Given the description of an element on the screen output the (x, y) to click on. 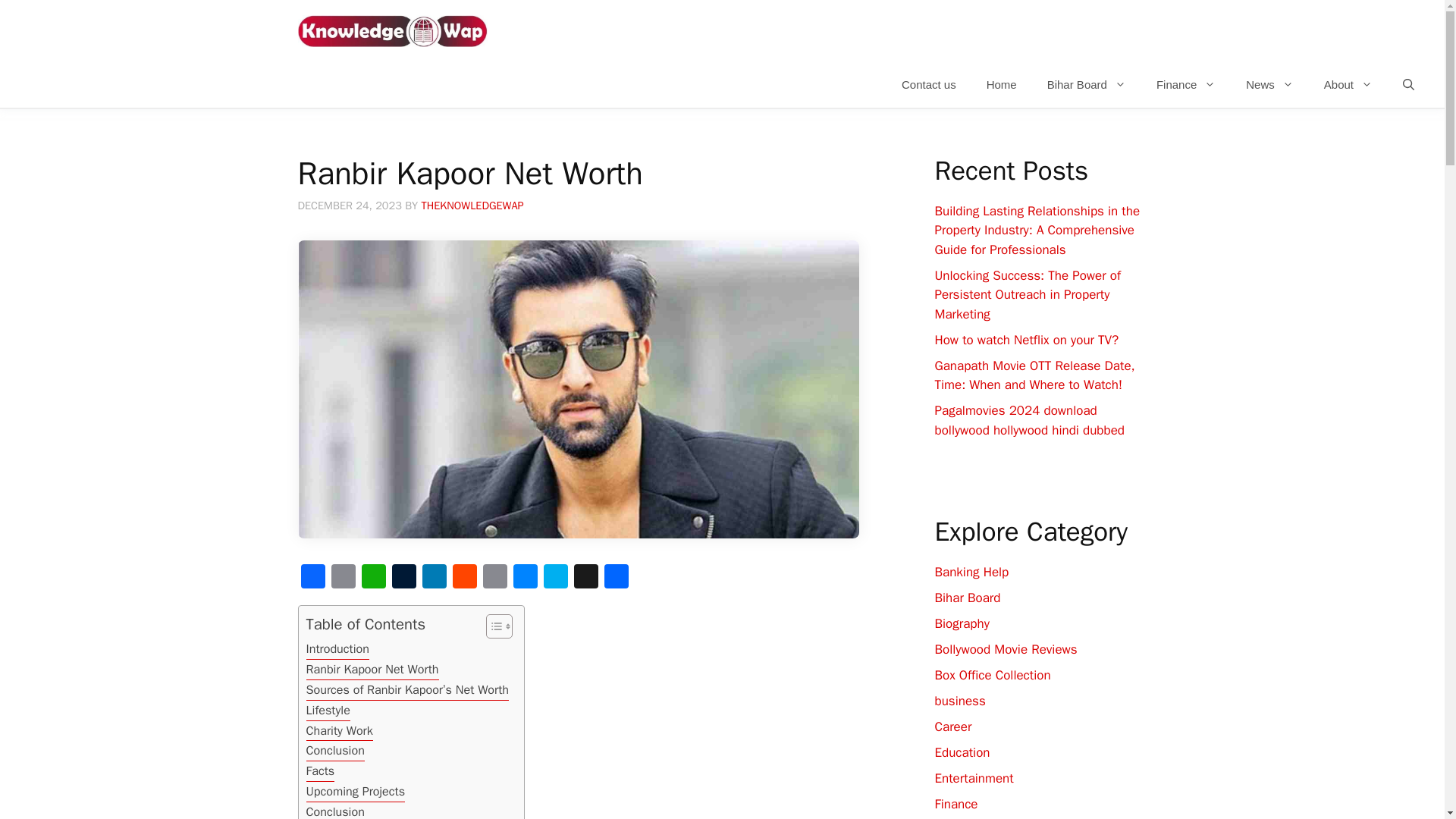
Email (342, 578)
View all posts by theknowledgewap (473, 205)
Copy Link (494, 578)
Email (342, 578)
Ranbir Kapoor Net Worth (372, 670)
Facebook (312, 578)
WhatsApp (373, 578)
Bihar Board (1086, 84)
Messenger (524, 578)
Skype (555, 578)
